Given the description of an element on the screen output the (x, y) to click on. 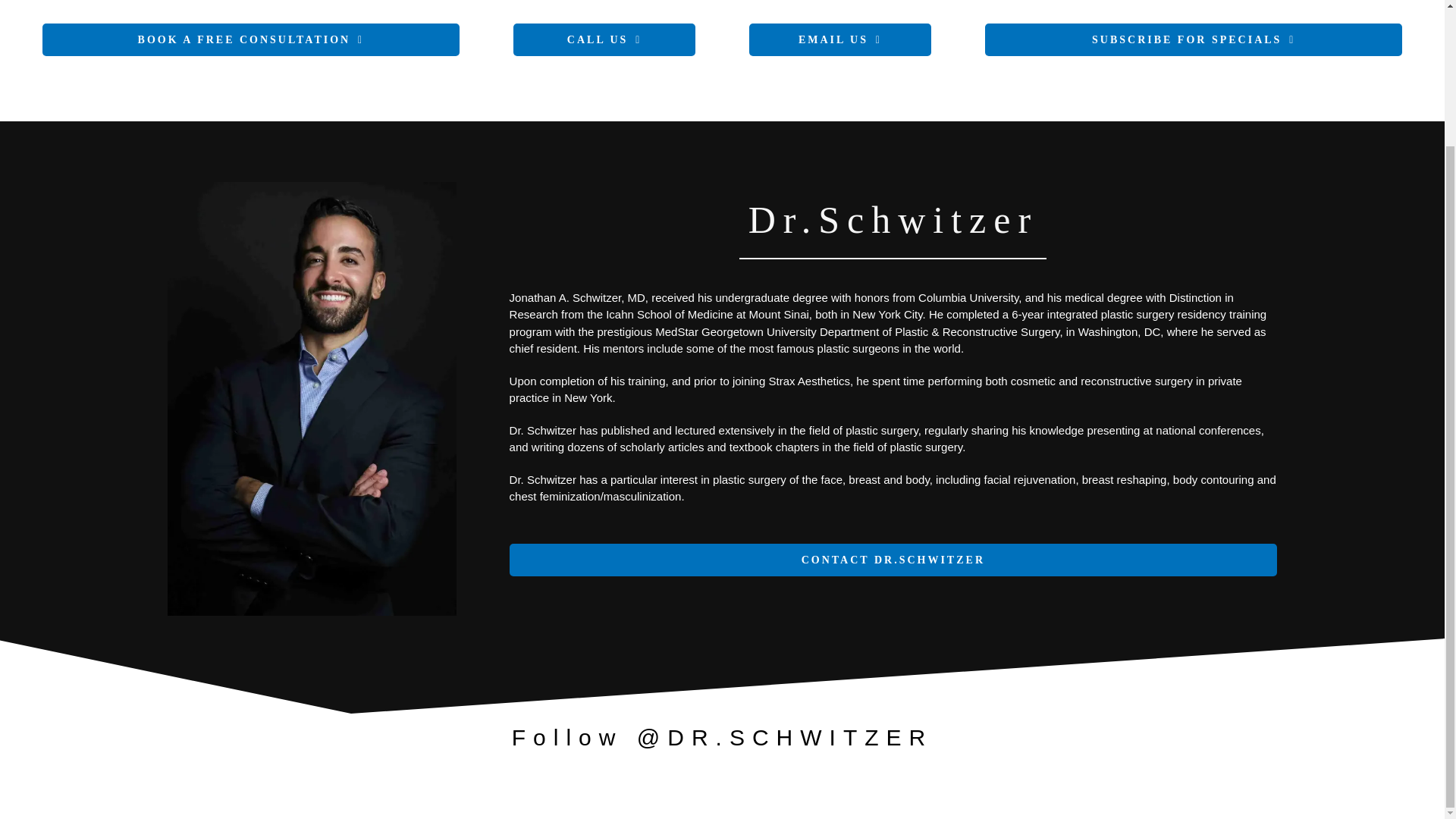
SCHWITZER (312, 398)
